Given the description of an element on the screen output the (x, y) to click on. 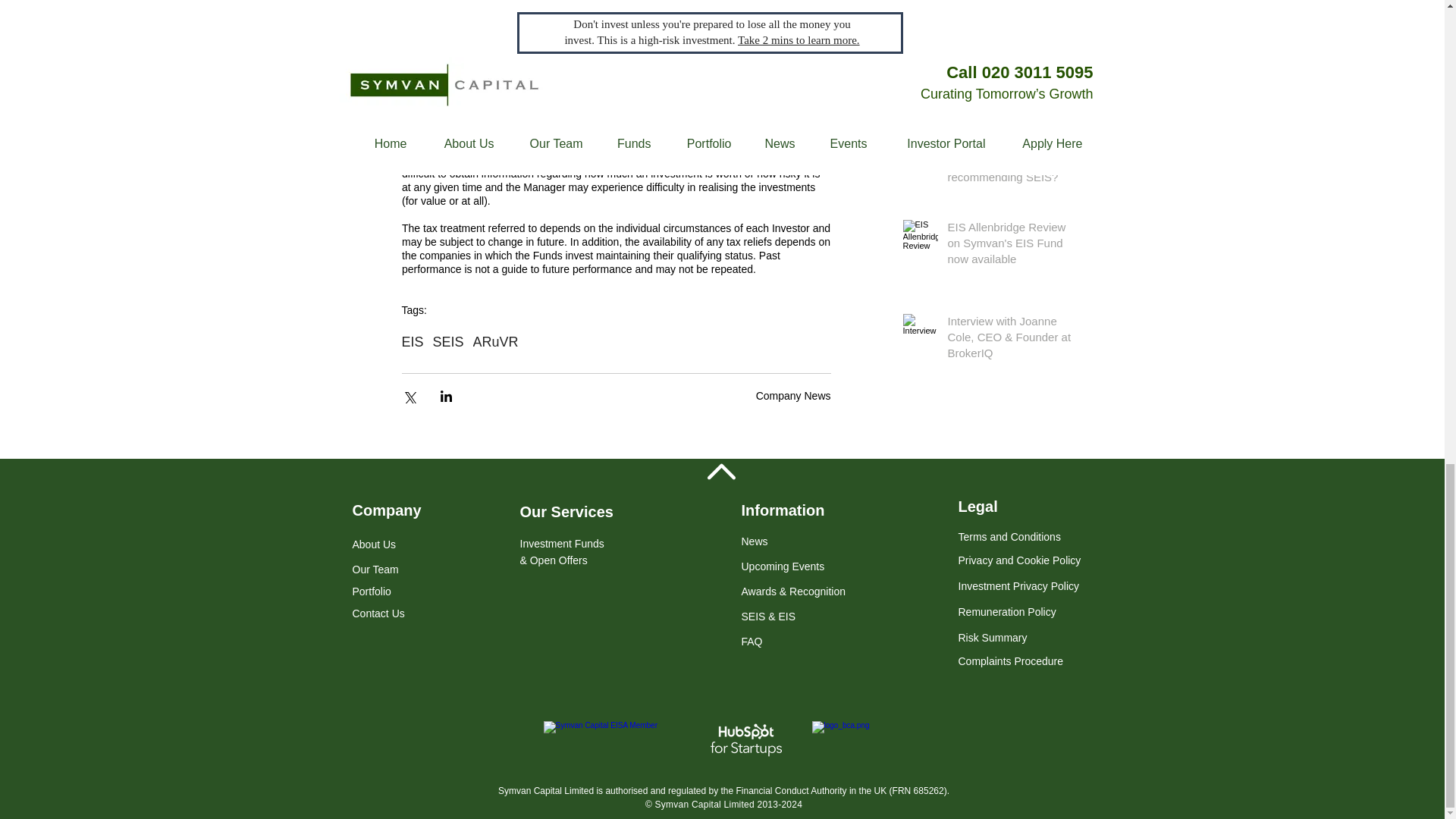
SEIS (448, 342)
EIS (412, 342)
Portfolio (371, 591)
Our Team (374, 569)
About Us (374, 550)
Our Services (565, 511)
Contact Us (378, 613)
EIS Allenbridge Review on Symvan's EIS Fund now available (1010, 245)
ARuVR (495, 342)
Company News (793, 395)
